Given the description of an element on the screen output the (x, y) to click on. 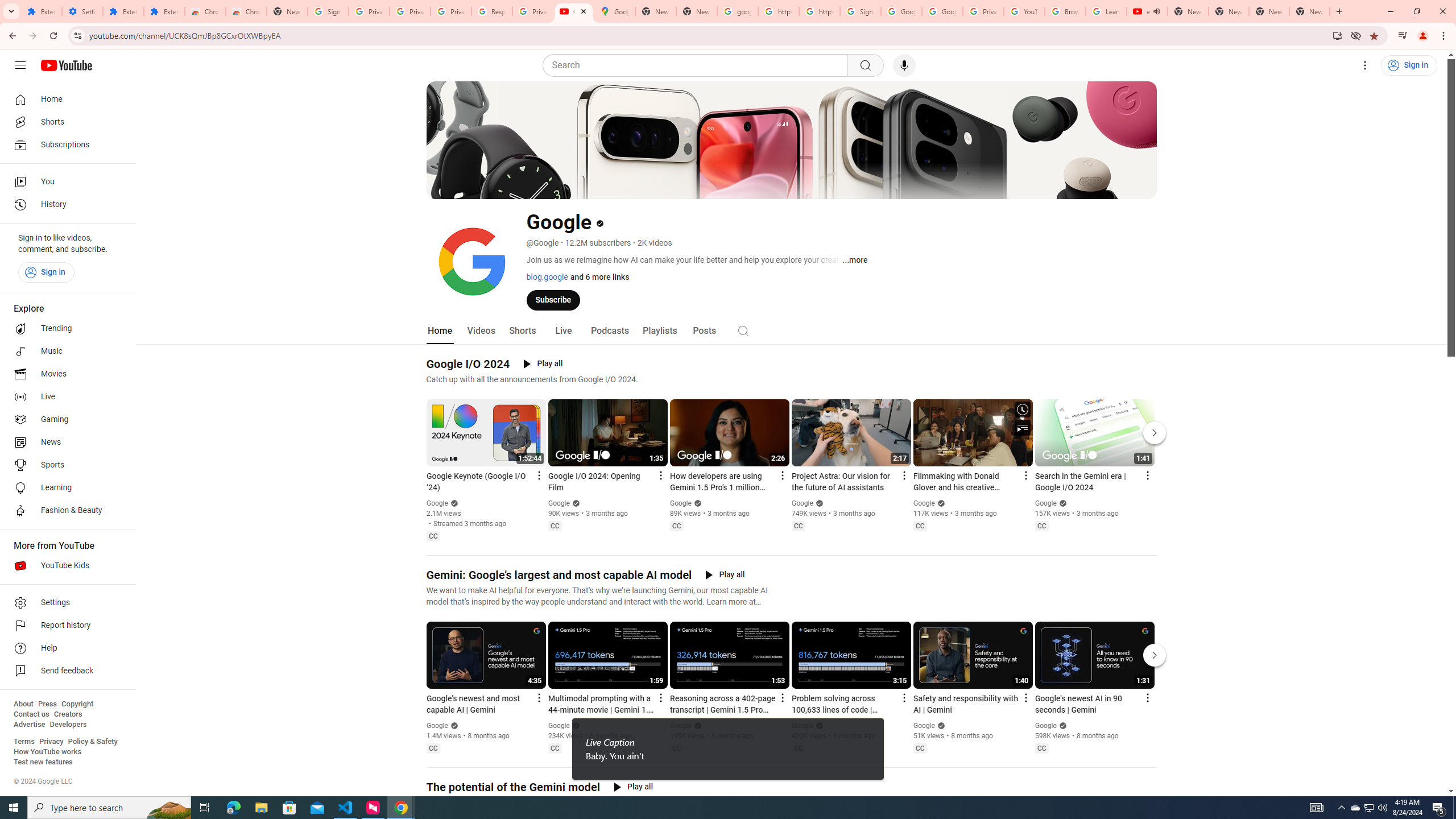
Copyright (77, 703)
Home (440, 330)
YouTube Kids (64, 565)
blog.google (546, 276)
Home (64, 99)
and 6 more links (598, 276)
Music (64, 350)
Next (1154, 654)
Developers (68, 724)
Subscribe (552, 299)
